Given the description of an element on the screen output the (x, y) to click on. 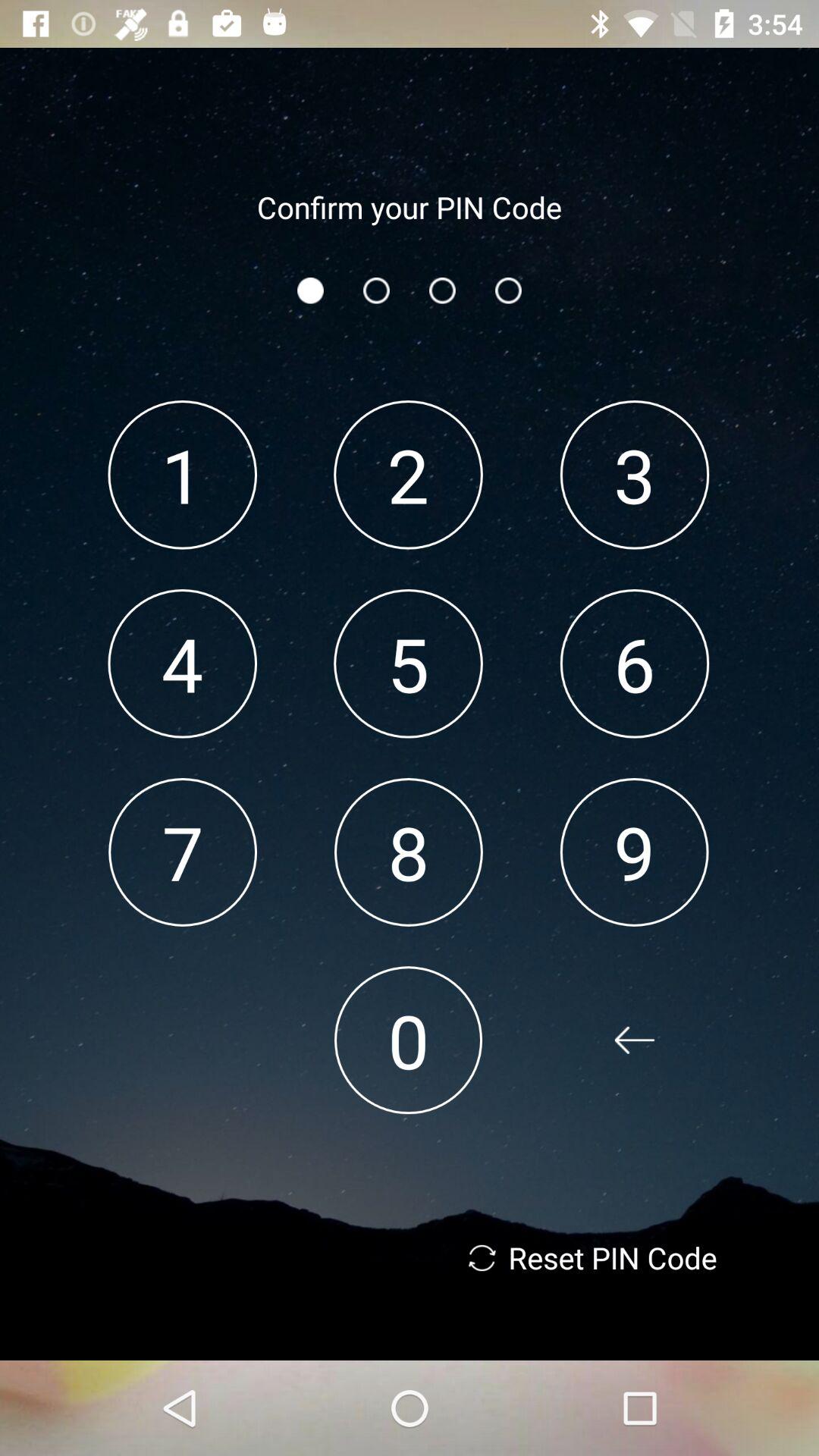
choose the icon below 2 (407, 663)
